Given the description of an element on the screen output the (x, y) to click on. 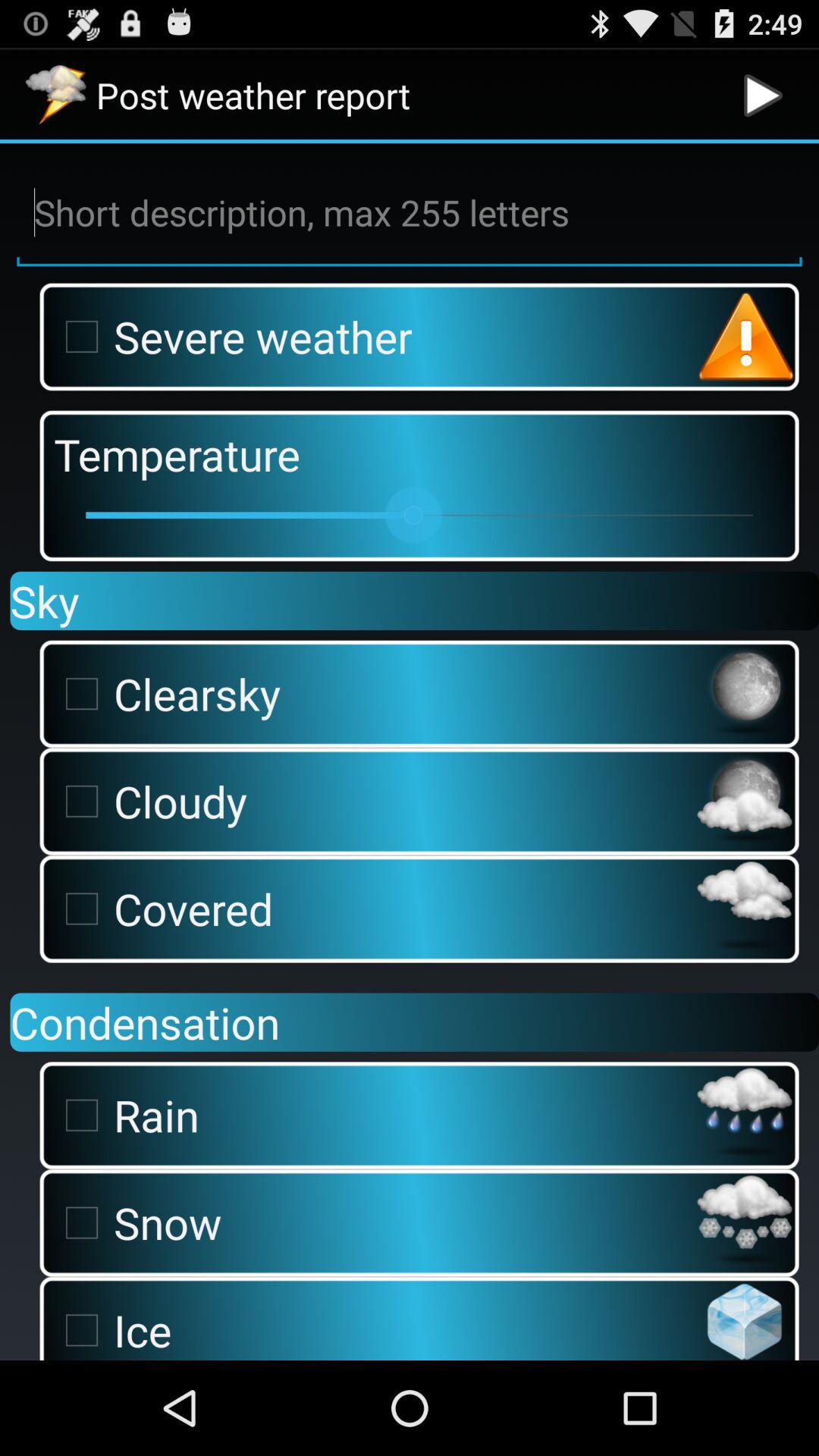
click on the option snow above ice (370, 1223)
